Given the description of an element on the screen output the (x, y) to click on. 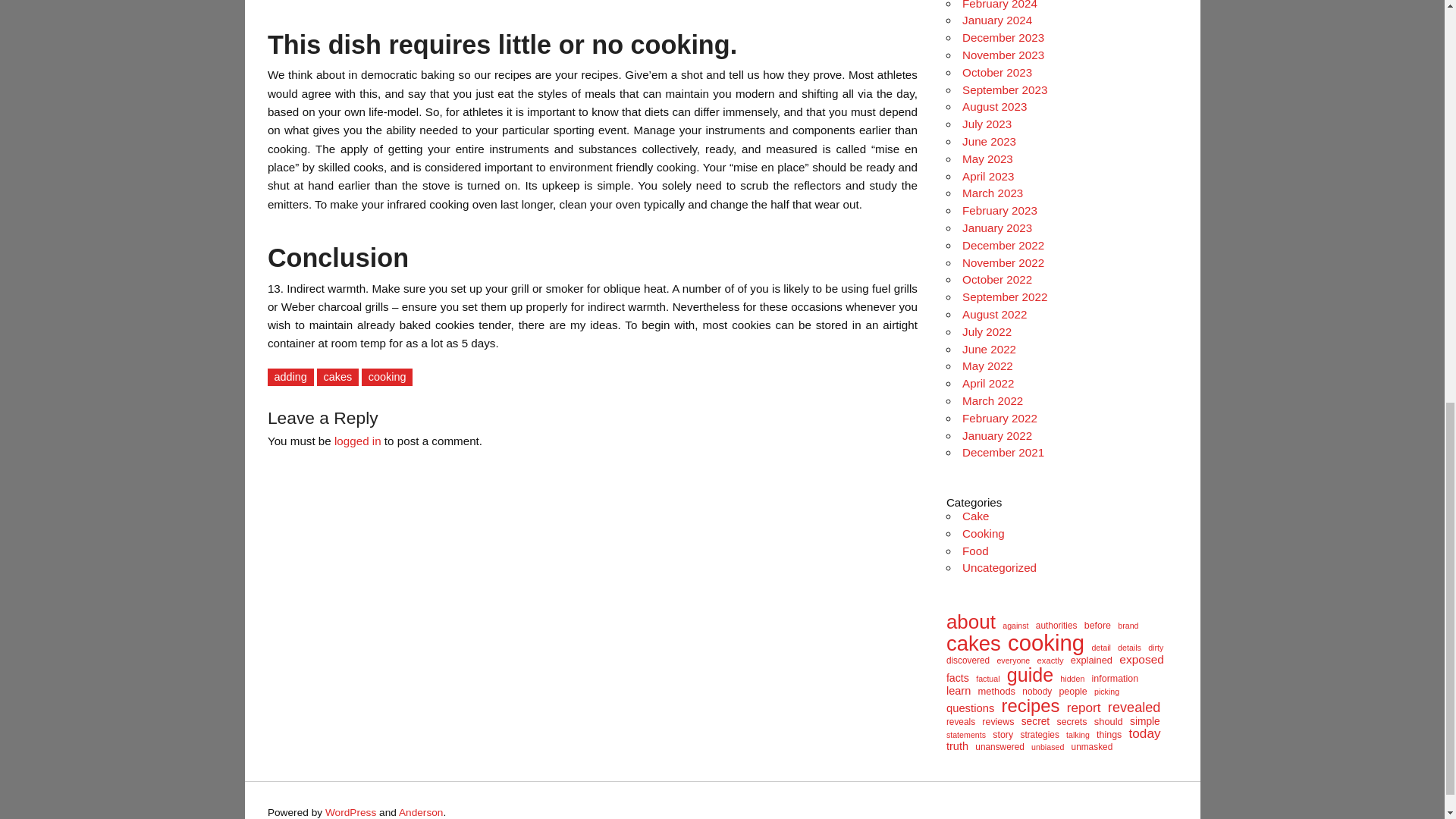
February 2024 (999, 4)
WordPress (349, 812)
December 2023 (1002, 37)
July 2023 (986, 123)
November 2023 (1002, 54)
logged in (357, 440)
January 2024 (997, 19)
October 2023 (997, 72)
adding (290, 376)
August 2023 (994, 106)
cakes (337, 376)
September 2023 (1004, 89)
cooking (386, 376)
Anderson WordPress Theme (421, 812)
